Given the description of an element on the screen output the (x, y) to click on. 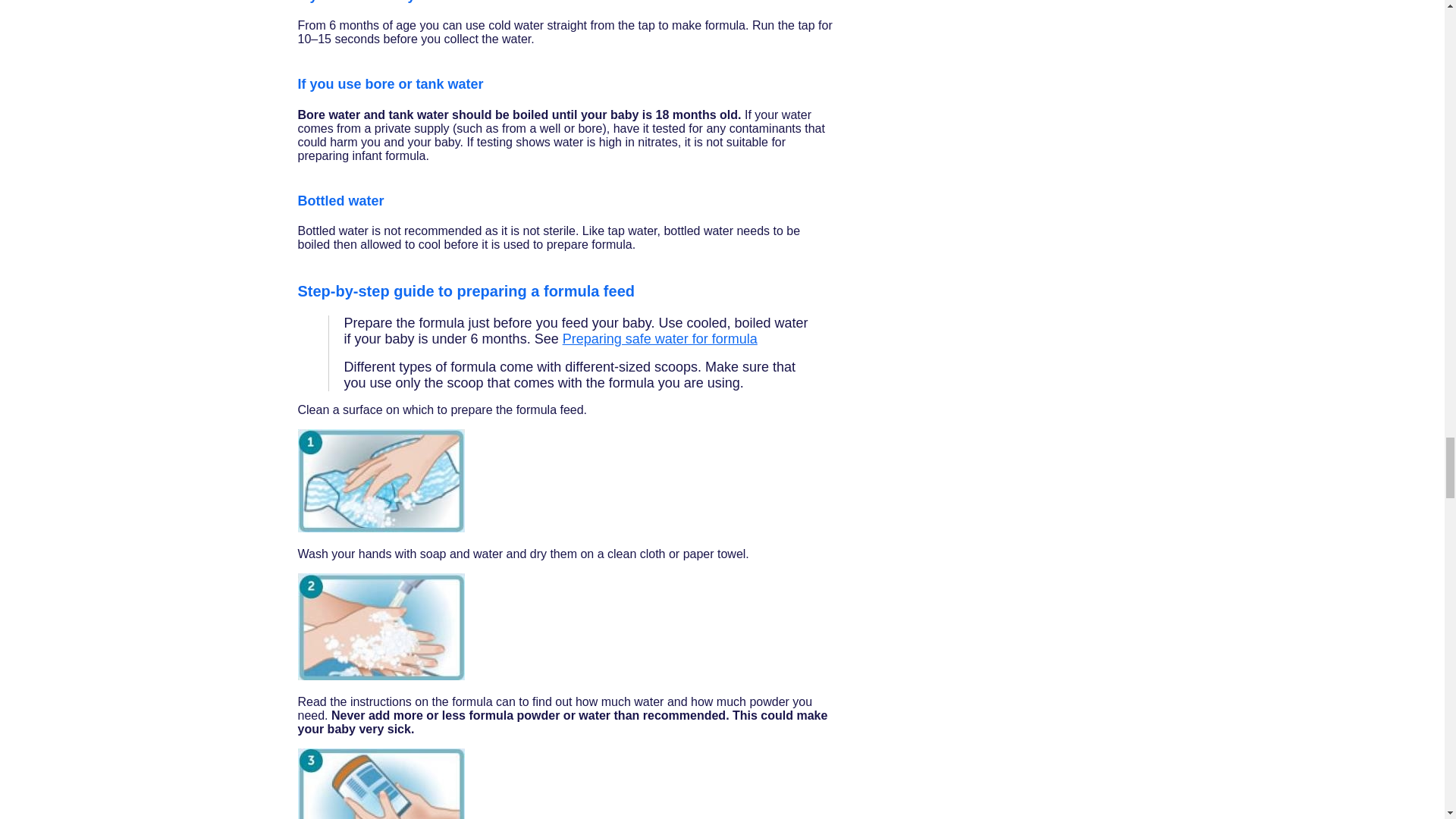
Preparing safe water for formula (659, 338)
